Given the description of an element on the screen output the (x, y) to click on. 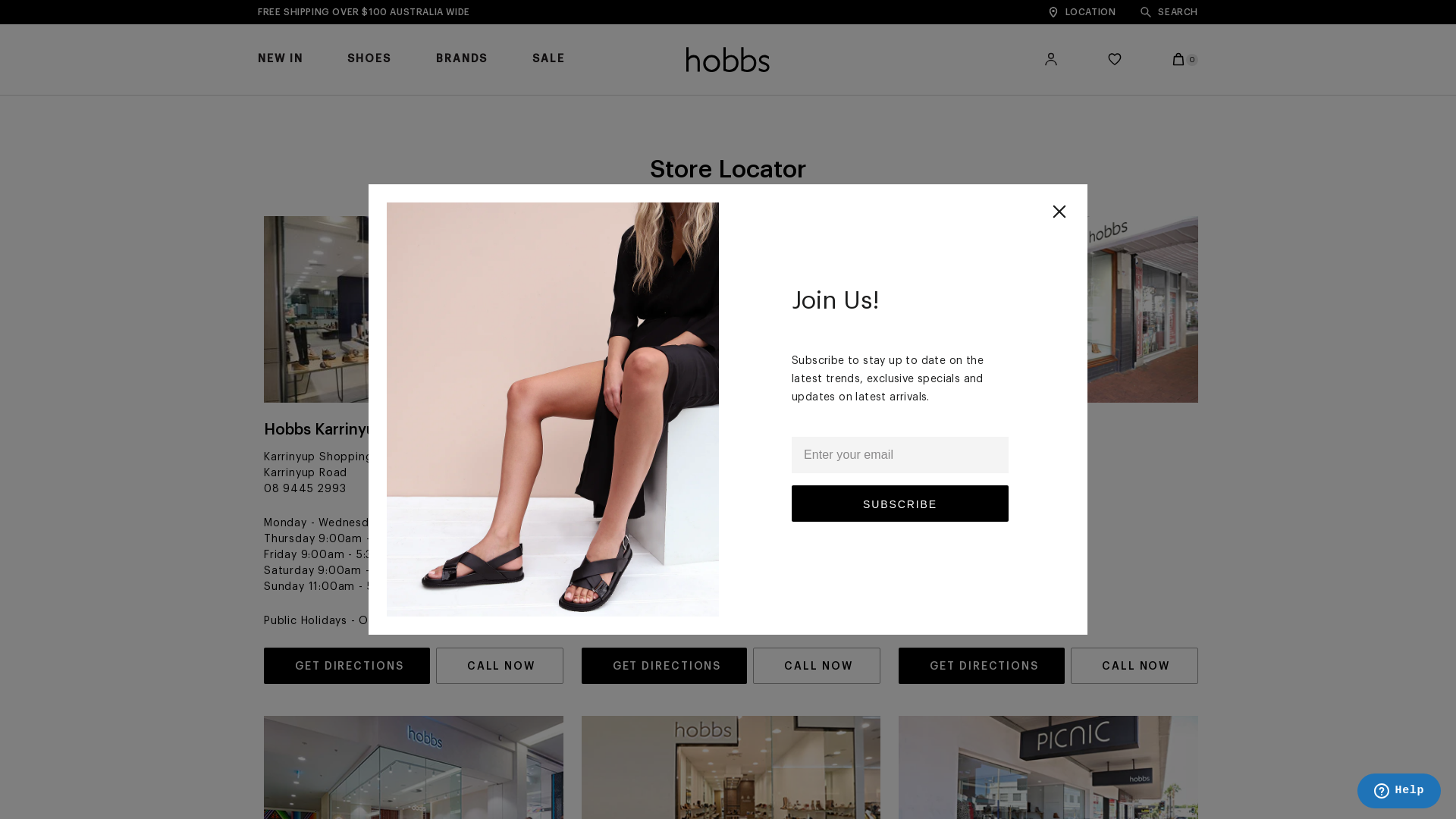
CALL NOW Element type: text (1134, 665)
GET DIRECTIONS Element type: text (346, 665)
View Wishlist Element type: hover (1114, 58)
CALL NOW Element type: text (816, 665)
"Close (esc)" Element type: text (1059, 211)
CALL NOW Element type: text (499, 665)
Skip to content Element type: text (0, 0)
NEW IN Element type: text (279, 73)
SUBSCRIBE Element type: text (899, 503)
BRANDS Element type: text (461, 73)
SALE Element type: text (548, 73)
Opens a widget where you can chat to one of our agents Element type: hover (1398, 792)
GET DIRECTIONS Element type: text (981, 665)
GET DIRECTIONS Element type: text (664, 665)
Log in Element type: text (1050, 58)
SHOES Element type: text (369, 73)
